Given the description of an element on the screen output the (x, y) to click on. 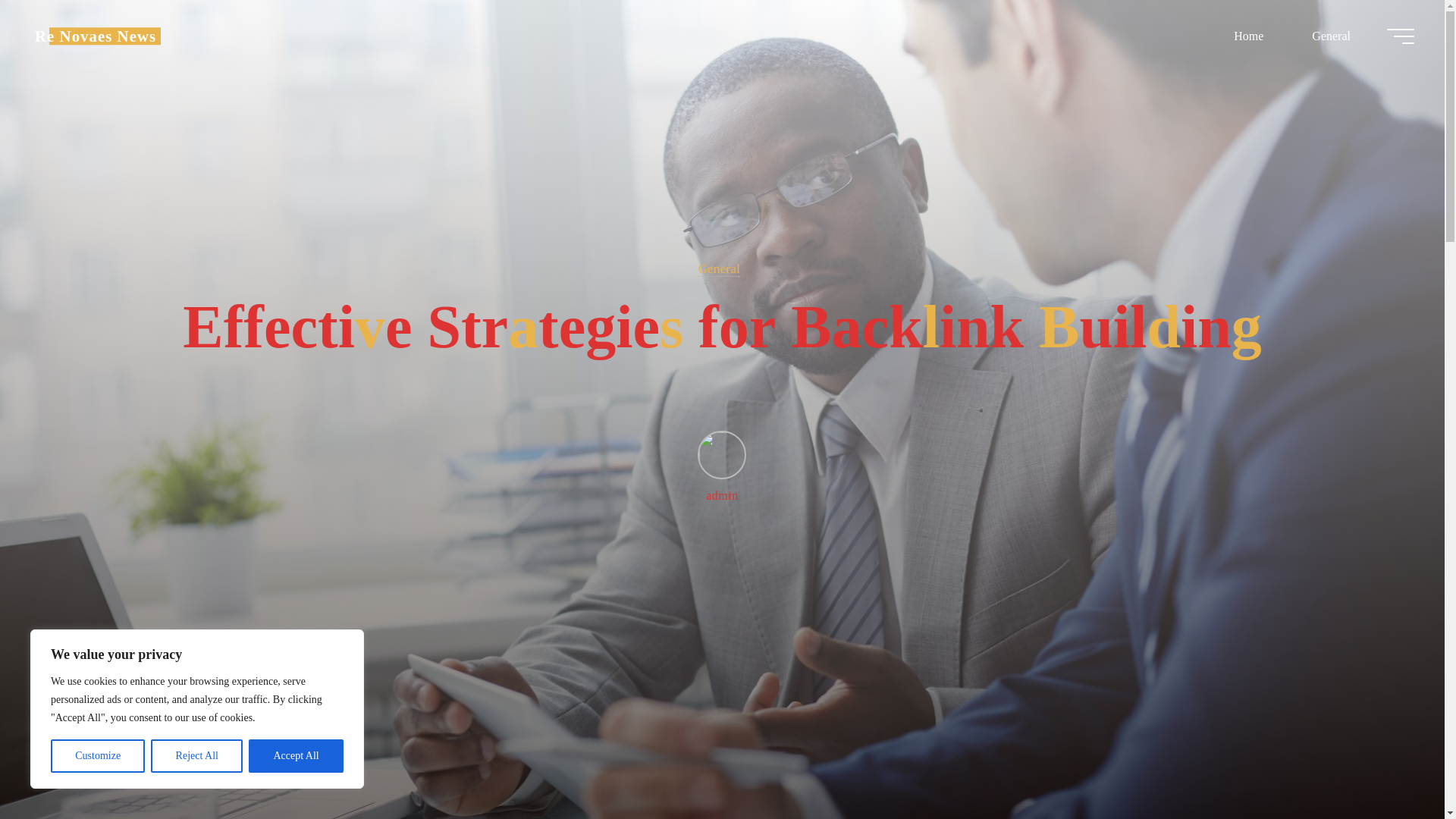
Reject All (197, 756)
Customize (97, 756)
Read more (721, 724)
Blog (95, 36)
General (718, 268)
General (1330, 35)
Accept All (295, 756)
Re Novaes News (95, 36)
Home (1248, 35)
